Given the description of an element on the screen output the (x, y) to click on. 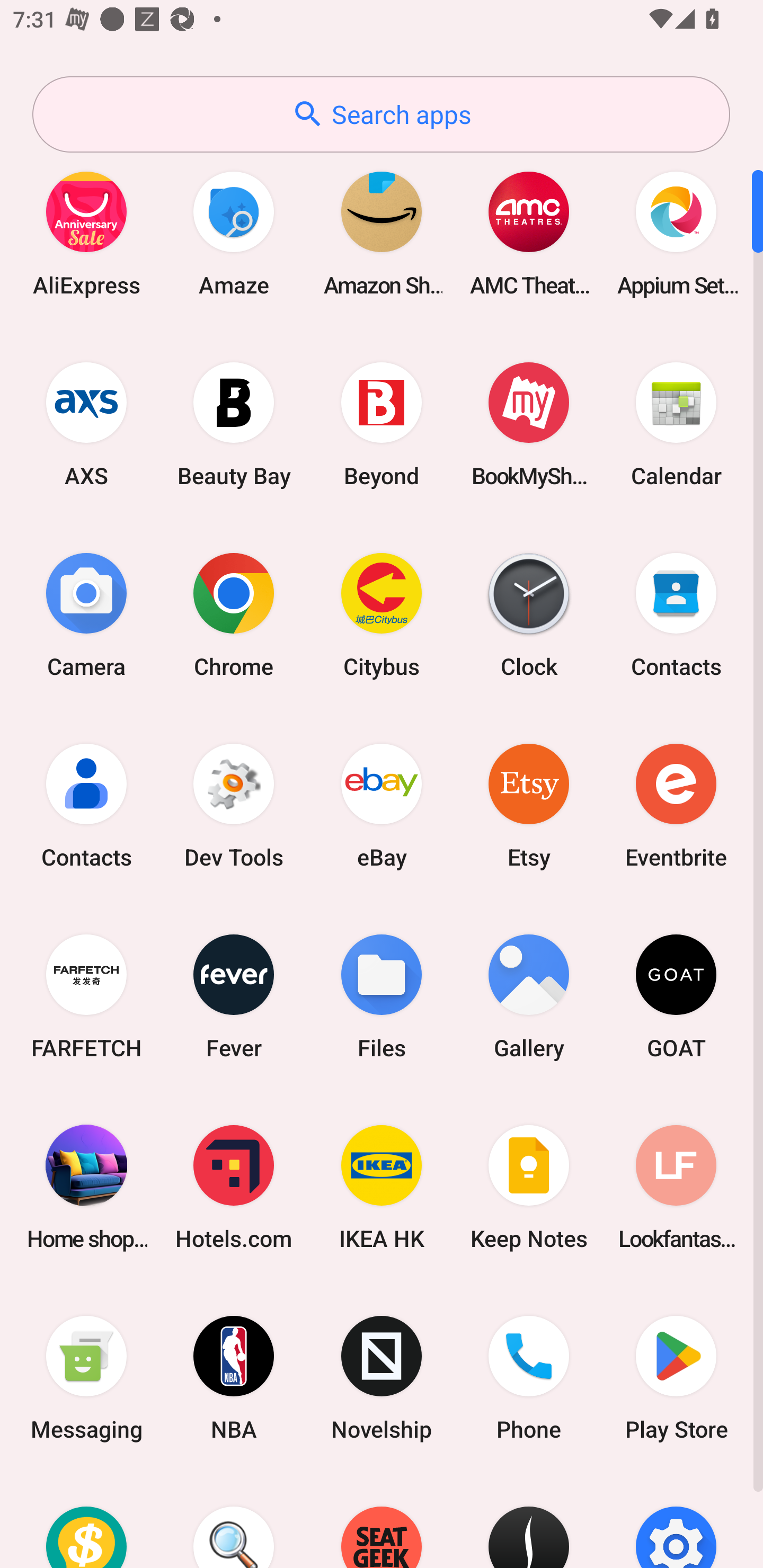
  Search apps (381, 114)
AliExpress (86, 233)
Amaze (233, 233)
Amazon Shopping (381, 233)
AMC Theatres (528, 233)
Appium Settings (676, 233)
AXS (86, 424)
Beauty Bay (233, 424)
Beyond (381, 424)
BookMyShow (528, 424)
Calendar (676, 424)
Camera (86, 614)
Chrome (233, 614)
Citybus (381, 614)
Clock (528, 614)
Contacts (676, 614)
Contacts (86, 805)
Dev Tools (233, 805)
eBay (381, 805)
Etsy (528, 805)
Eventbrite (676, 805)
FARFETCH (86, 996)
Fever (233, 996)
Files (381, 996)
Gallery (528, 996)
GOAT (676, 996)
Home shopping (86, 1186)
Hotels.com (233, 1186)
IKEA HK (381, 1186)
Keep Notes (528, 1186)
Lookfantastic (676, 1186)
Messaging (86, 1377)
NBA (233, 1377)
Novelship (381, 1377)
Phone (528, 1377)
Play Store (676, 1377)
